Given the description of an element on the screen output the (x, y) to click on. 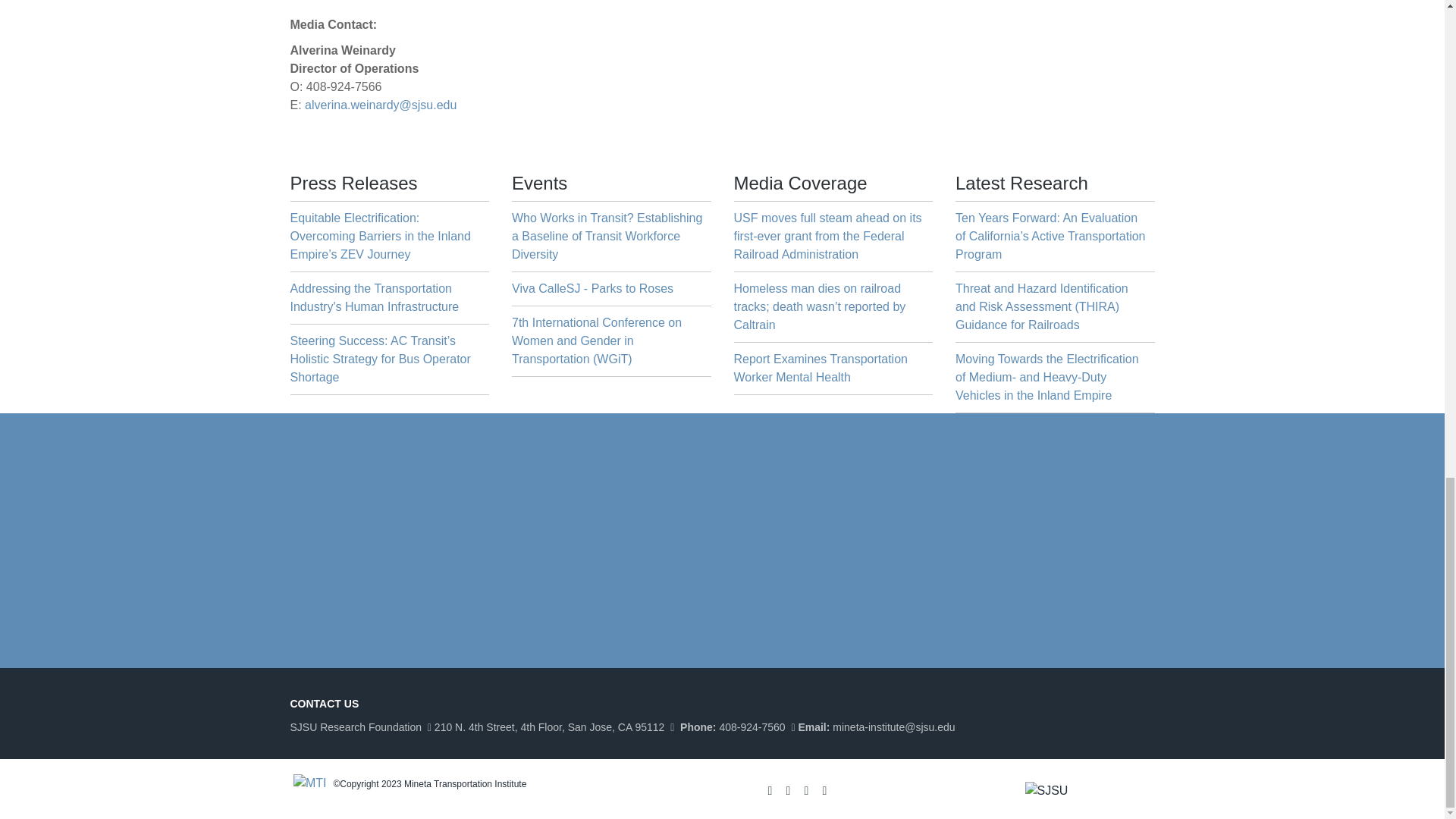
Youtube (826, 789)
Twitter (790, 789)
Facebook (771, 789)
LinkedIn (807, 789)
